Given the description of an element on the screen output the (x, y) to click on. 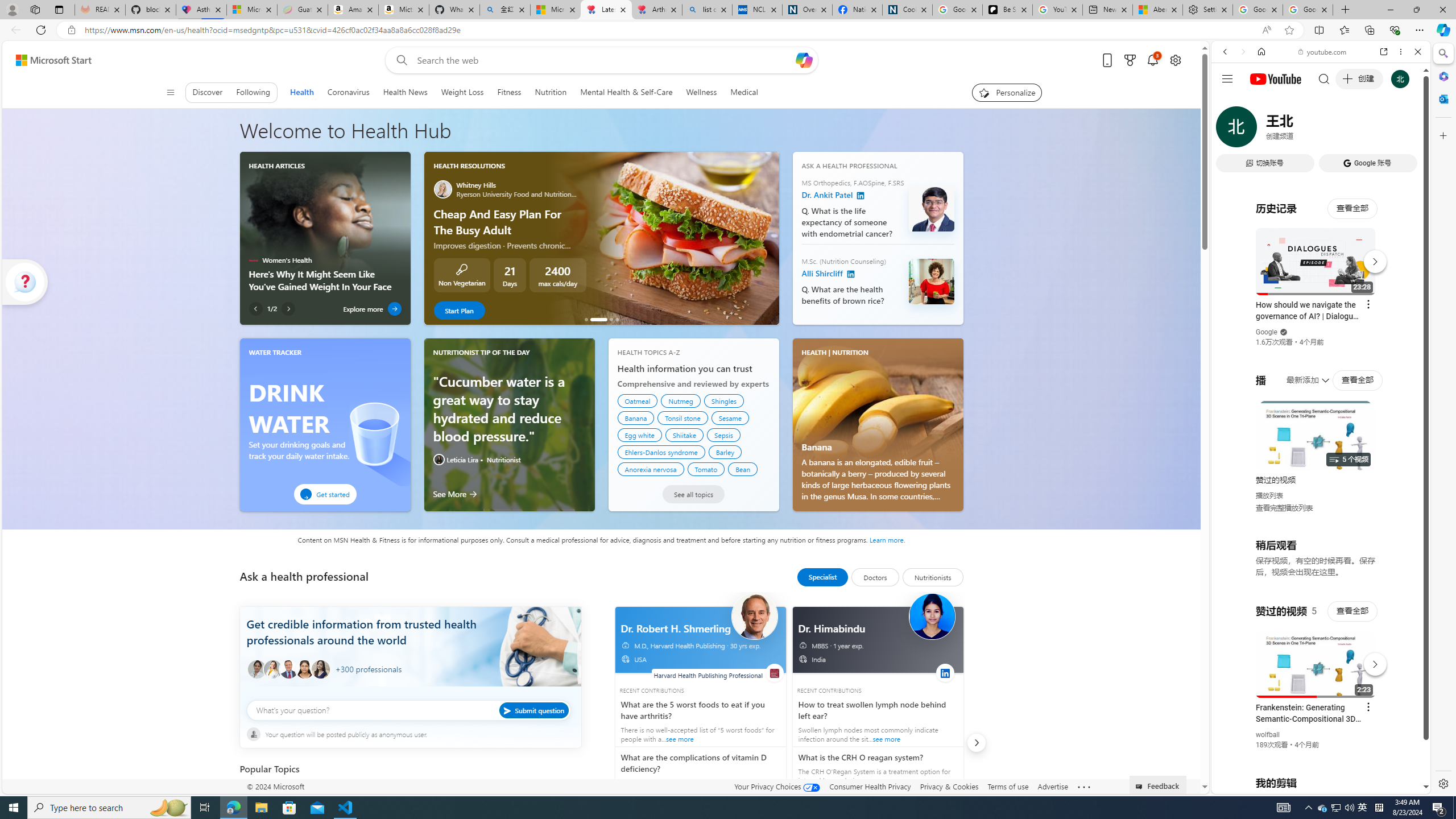
Music (1320, 309)
Search Filter, WEB (1230, 129)
Oatmeal (637, 400)
Skip to footer (46, 59)
Trailer #2 [HD] (1320, 337)
Class: health-tip-image (438, 459)
Feedback (1157, 784)
Health (301, 92)
youtube.com (1322, 51)
Class: askQuestionButtonArrowIcon (508, 709)
